Given the description of an element on the screen output the (x, y) to click on. 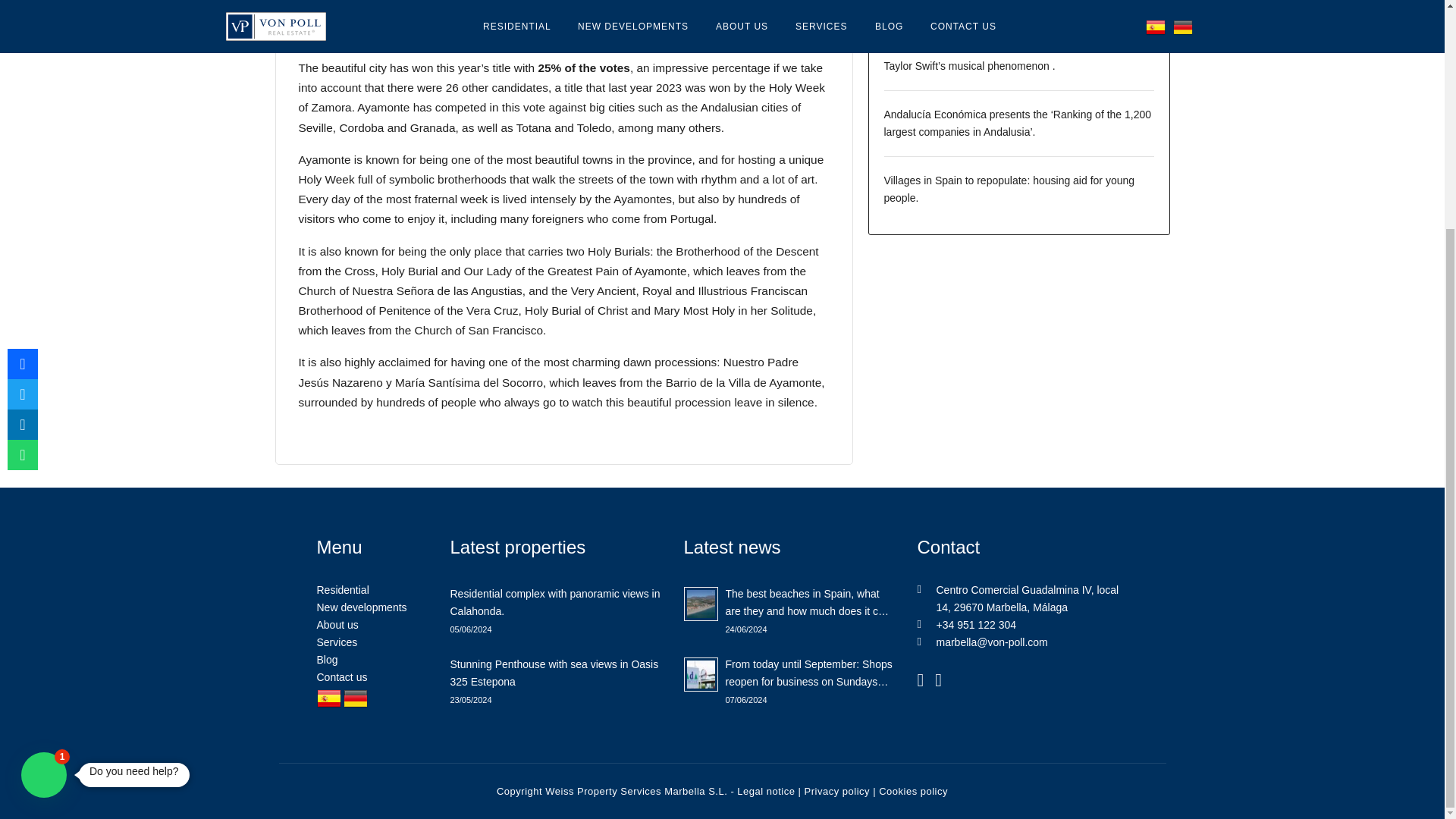
Share it! (22, 55)
Share it! (22, 146)
Share it! (22, 86)
Share it! (22, 116)
